Given the description of an element on the screen output the (x, y) to click on. 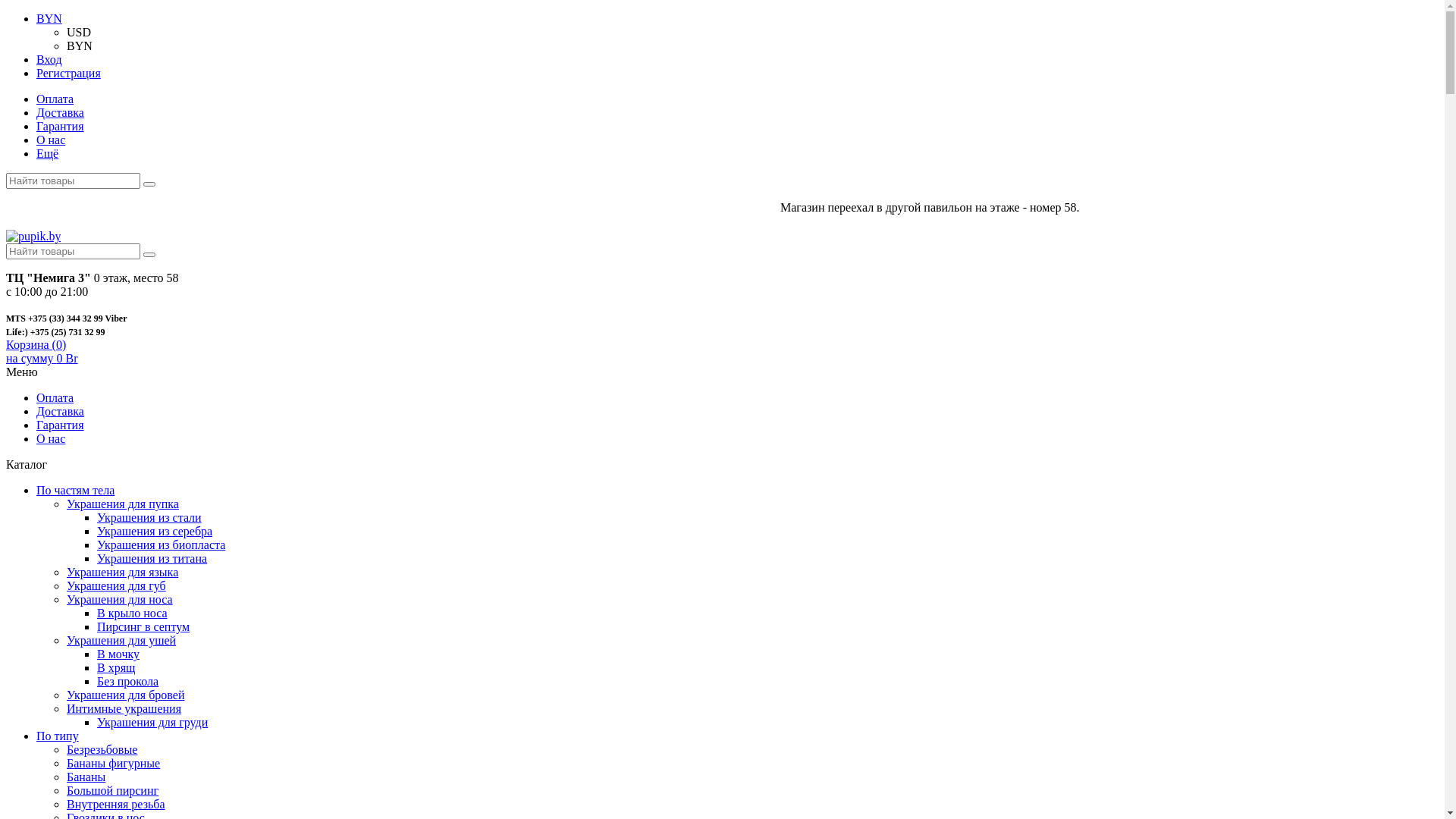
USD Element type: text (78, 31)
BYN Element type: text (49, 18)
BYN Element type: text (79, 45)
